Given the description of an element on the screen output the (x, y) to click on. 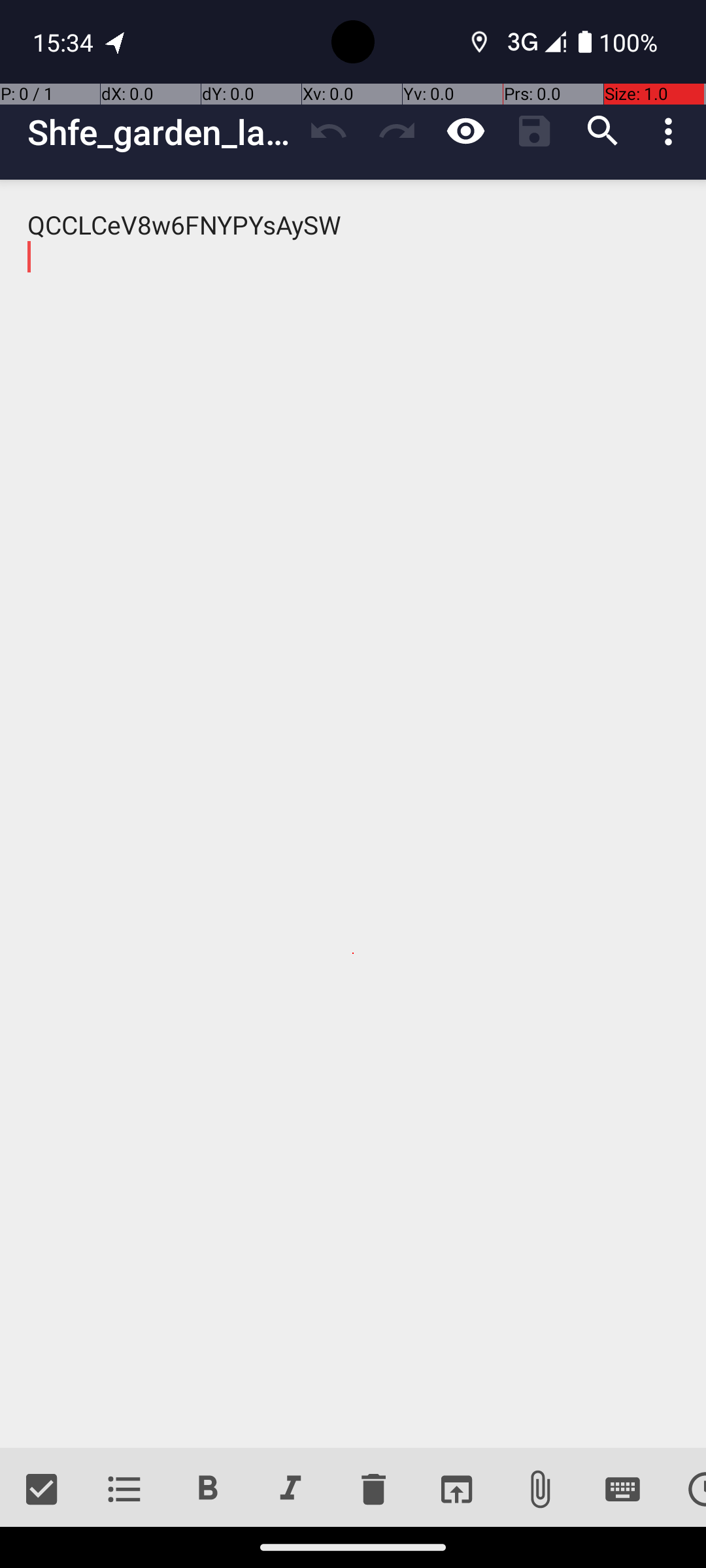
Shfe_garden_layout_plan Element type: android.widget.TextView (160, 131)
QCCLCeV8w6FNYPYsAySW
 Element type: android.widget.EditText (353, 813)
